Given the description of an element on the screen output the (x, y) to click on. 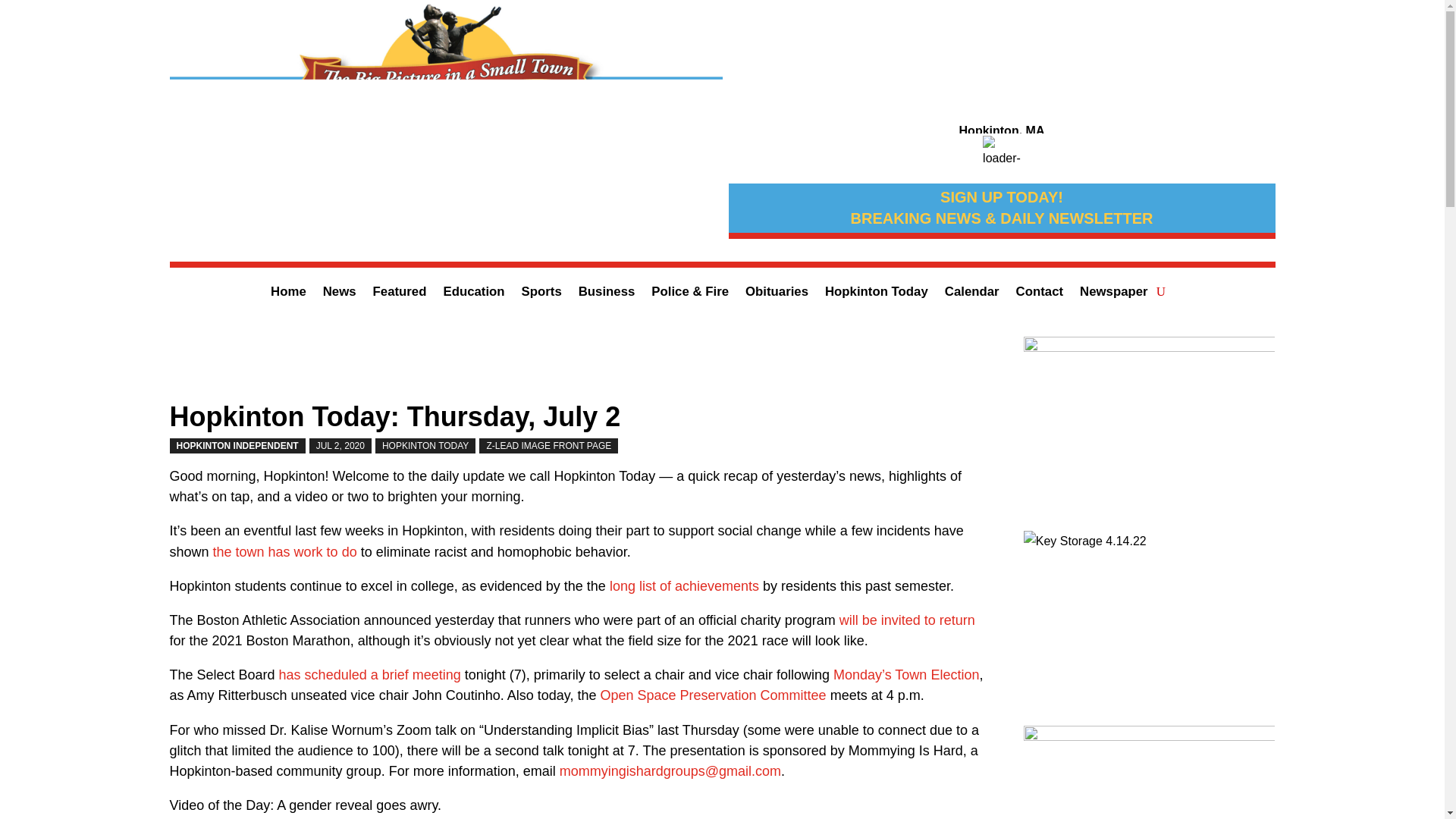
Z-LEAD IMAGE FRONT PAGE (548, 445)
the town has work to do (284, 551)
HOPKINTON INDEPENDENT (237, 445)
Hopkinton Today (876, 294)
Posts by Hopkinton Independent (237, 445)
Open Space Preservation Committee (712, 694)
News (339, 294)
Featured (399, 294)
Newspaper (1114, 294)
Obituaries (776, 294)
Sports (541, 294)
Calendar (971, 294)
long list of achievements (684, 585)
Education (472, 294)
